Given the description of an element on the screen output the (x, y) to click on. 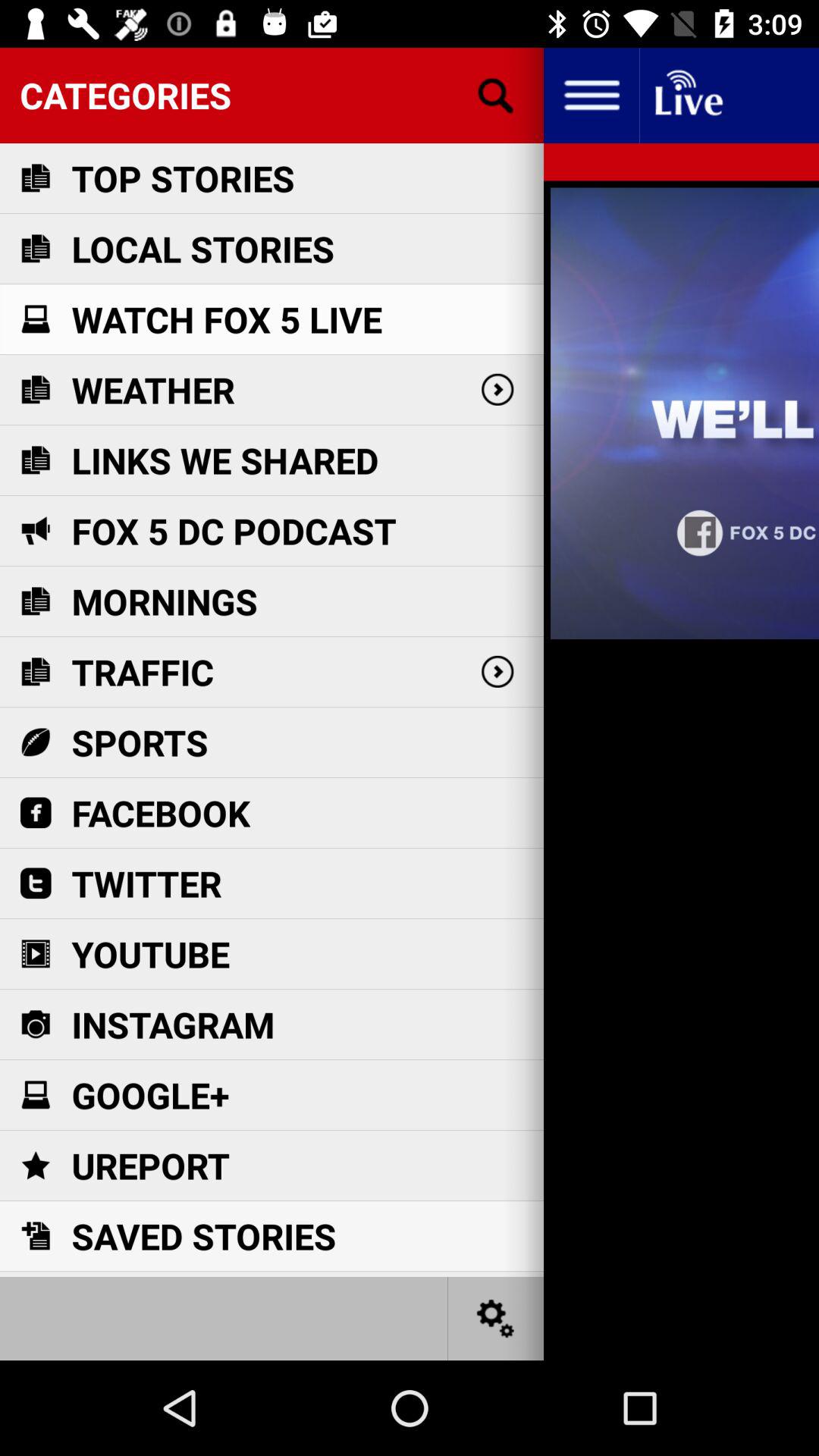
change settings (495, 1318)
